Given the description of an element on the screen output the (x, y) to click on. 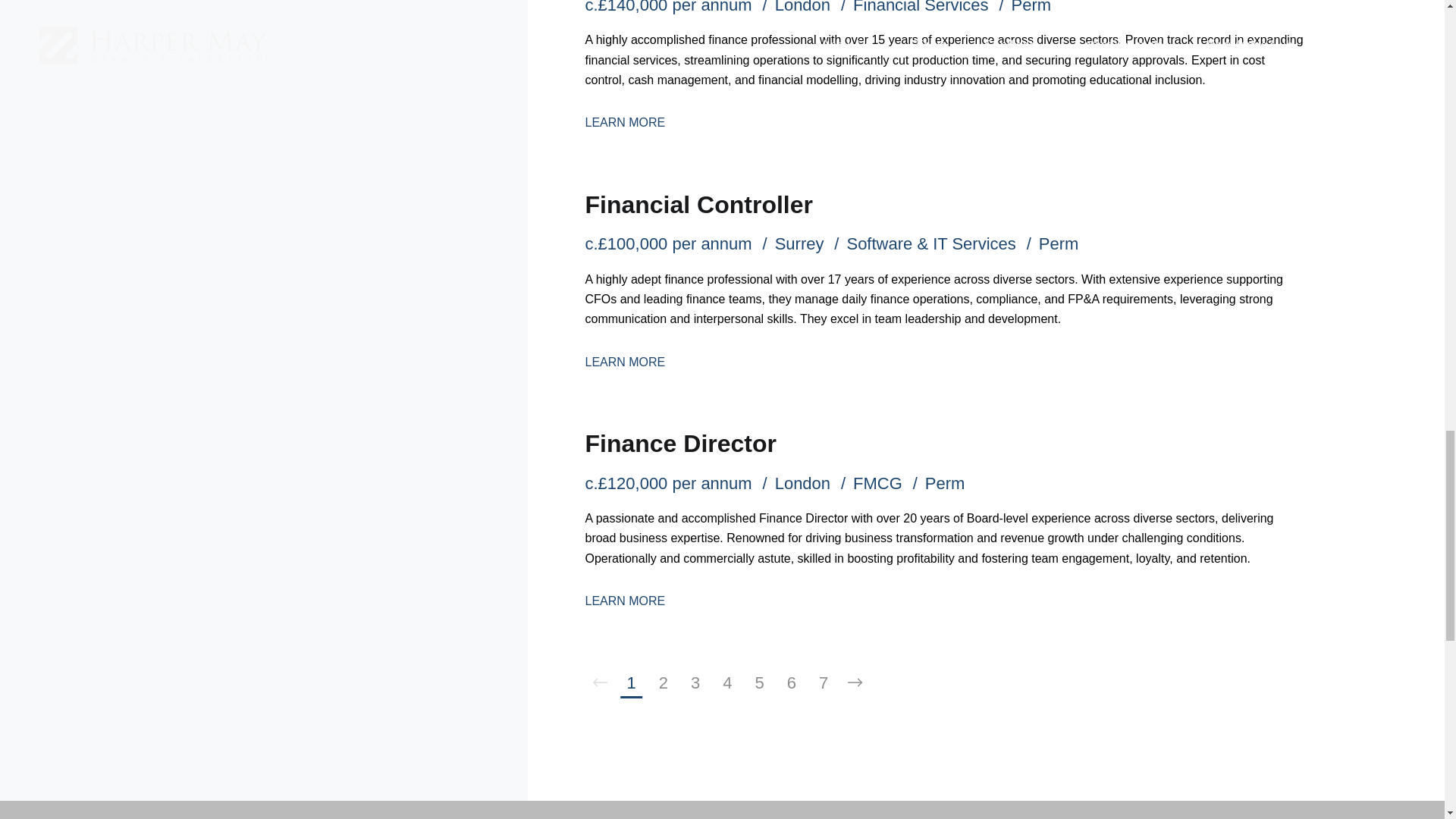
Finance Director (680, 443)
LEARN MORE (625, 122)
4 (726, 683)
LEARN MORE (625, 361)
Financial Controller (698, 204)
3 (695, 683)
7 (824, 683)
6 (792, 683)
2 (663, 683)
5 (758, 683)
LEARN MORE (625, 600)
